Given the description of an element on the screen output the (x, y) to click on. 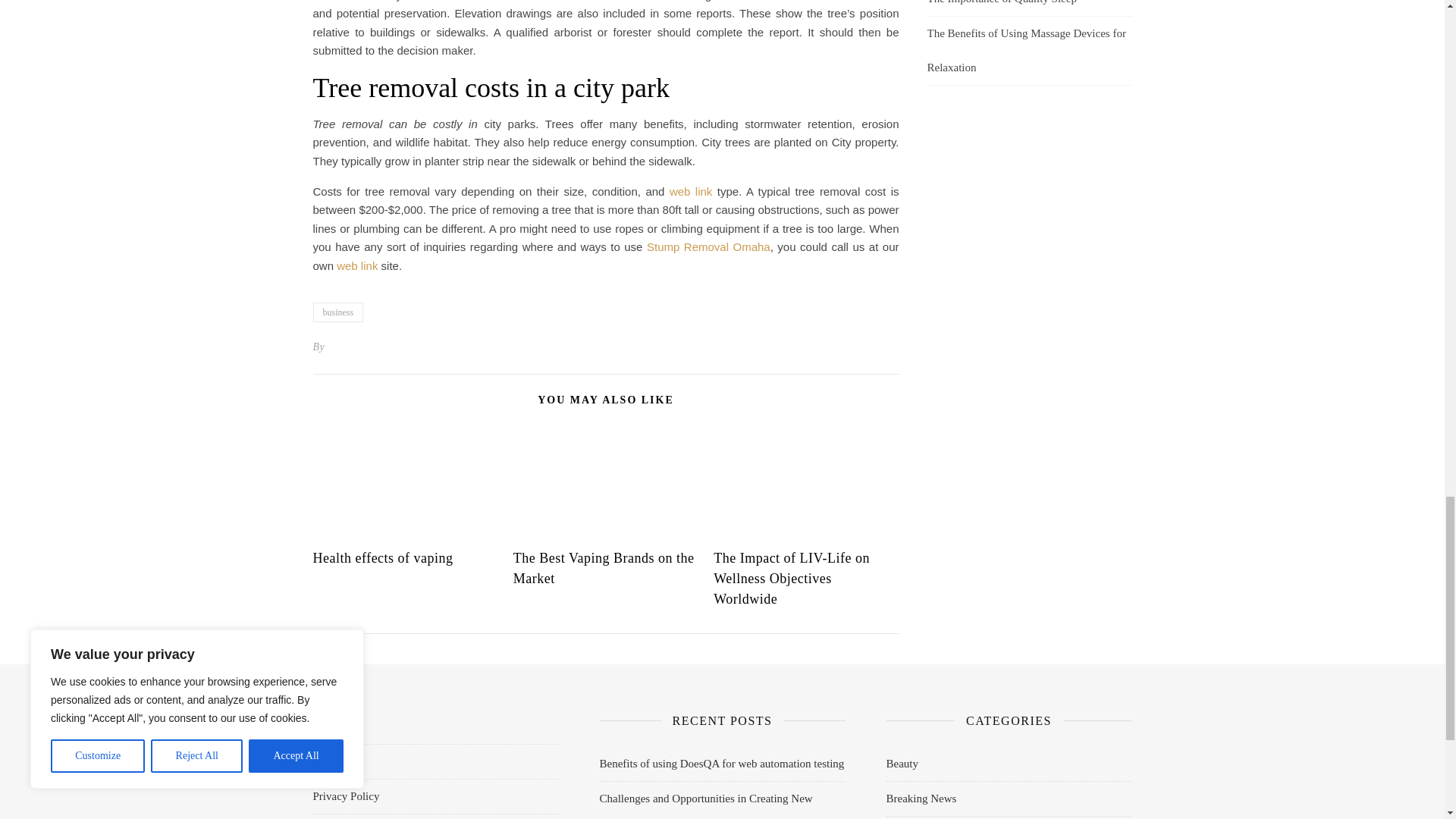
business (337, 312)
web link (356, 265)
web link (690, 191)
Stump Removal Omaha (708, 246)
